Given the description of an element on the screen output the (x, y) to click on. 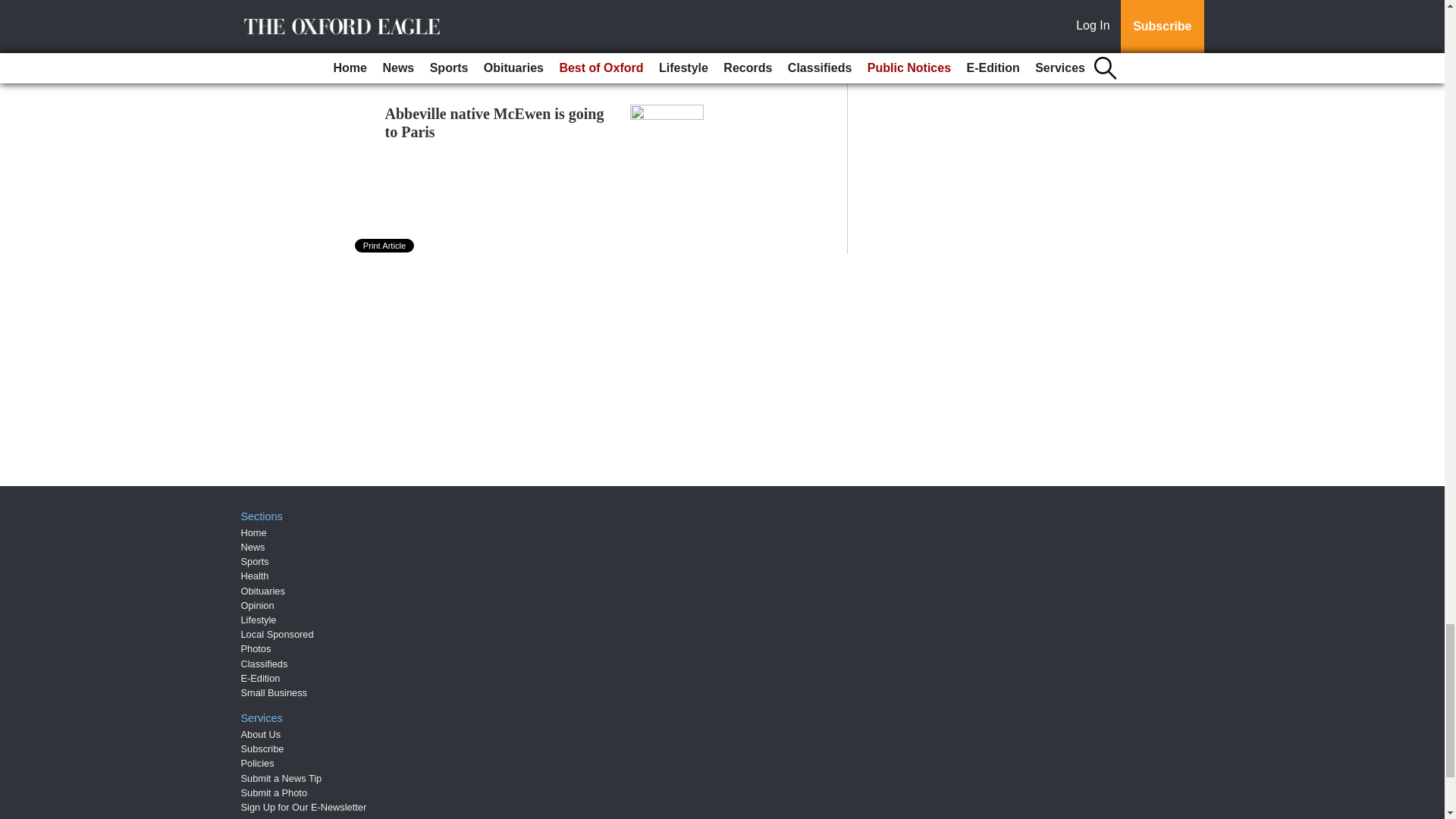
Abbeville native McEwen is going to Paris (494, 121)
Print Article (384, 245)
Abbeville native McEwen is going to Paris (494, 121)
